Given the description of an element on the screen output the (x, y) to click on. 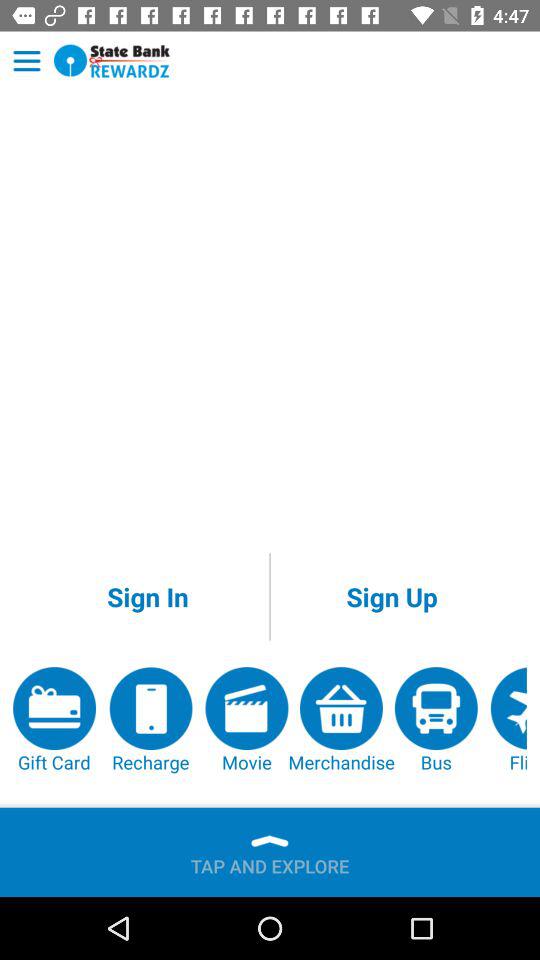
select the symbol which is right to menu button (112, 61)
